Given the description of an element on the screen output the (x, y) to click on. 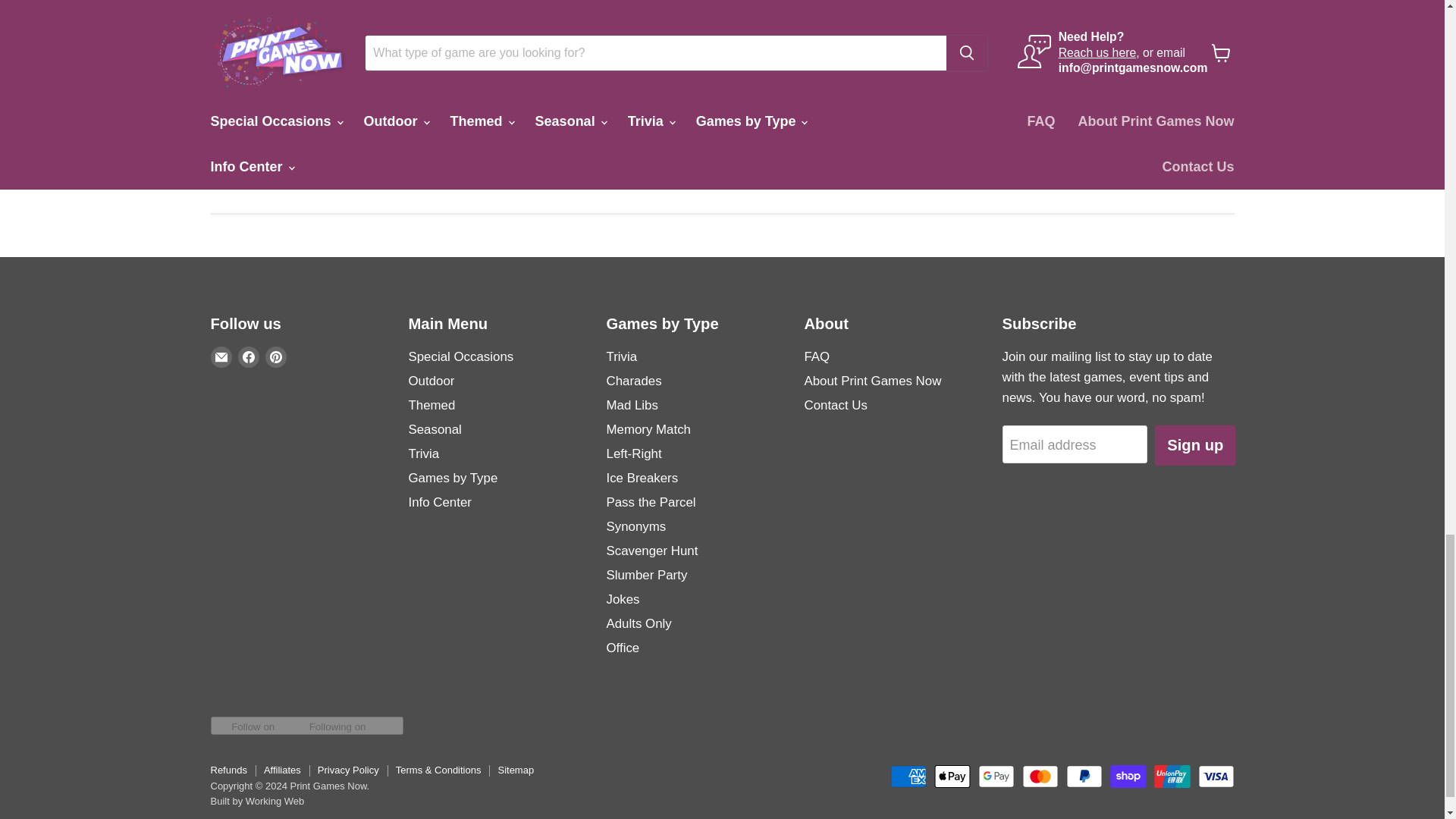
Print Games Now (889, 97)
Print Games Now (682, 97)
Print Games Now (473, 97)
Facebook (248, 356)
American Express (907, 775)
Print Games Now (1097, 97)
Print Games Now (265, 97)
Pinterest (275, 356)
Email (221, 356)
